Given the description of an element on the screen output the (x, y) to click on. 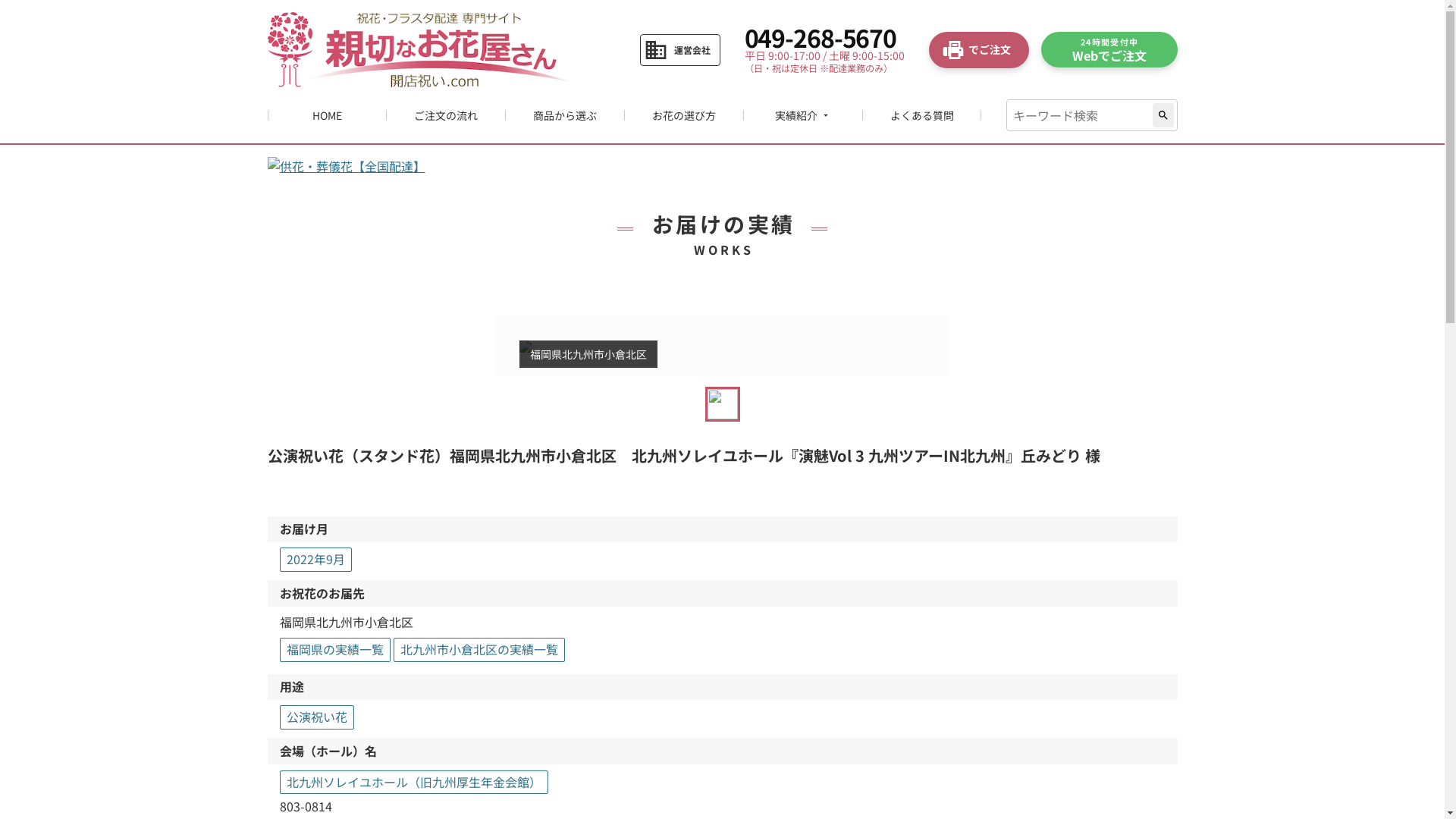
search Element type: text (1162, 115)
HOME Element type: text (327, 114)
